Given the description of an element on the screen output the (x, y) to click on. 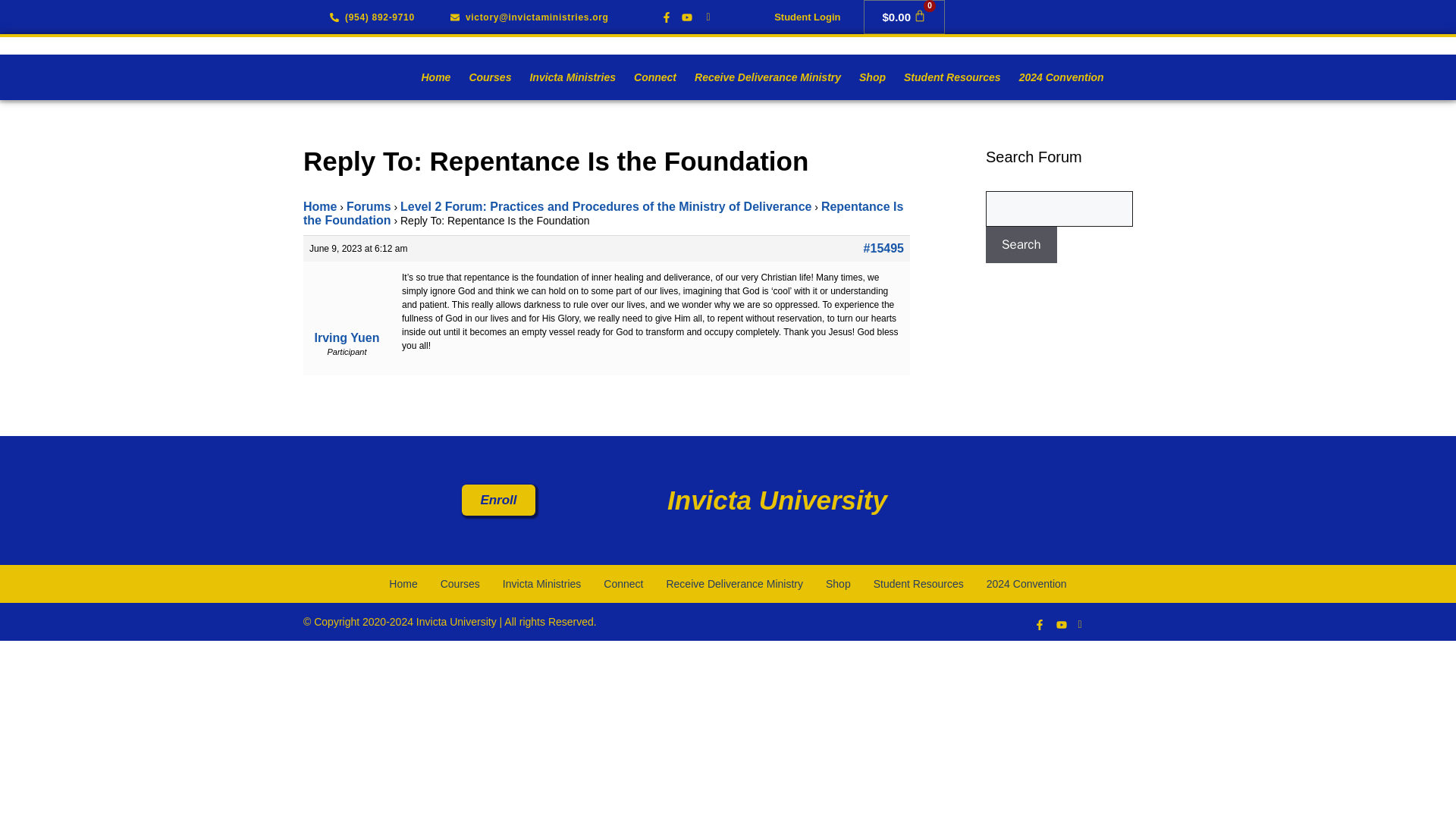
Home (401, 67)
Shop (883, 67)
Courses (465, 67)
Student Login (807, 17)
Student Resources (971, 67)
Search (1021, 244)
Receive Deliverance Ministry (769, 67)
View Irving Yuen's profile (346, 307)
2024 Convention (1089, 67)
Connect (647, 67)
Invicta Ministries (556, 67)
